Given the description of an element on the screen output the (x, y) to click on. 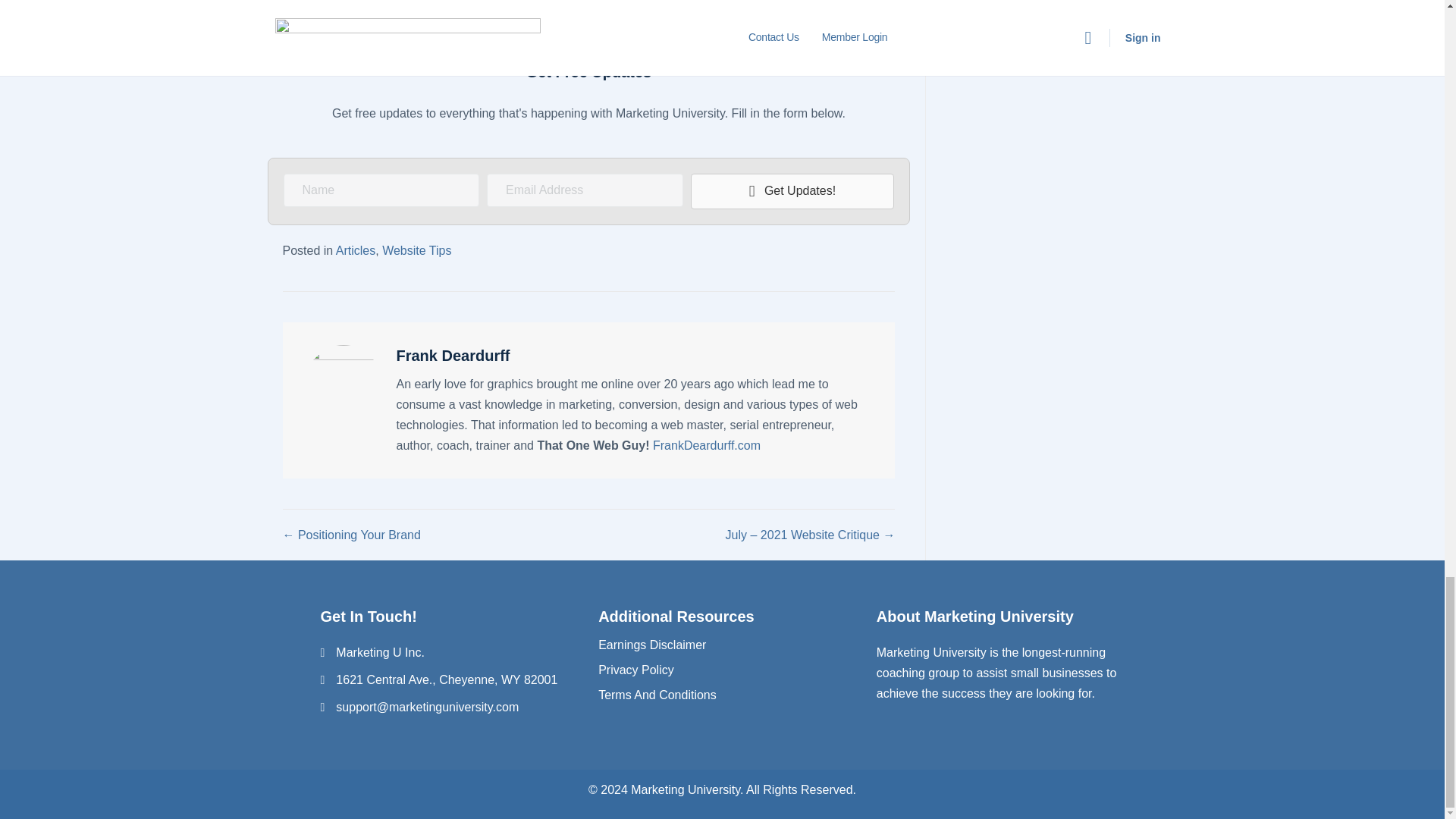
Articles (355, 250)
Privacy Policy (636, 669)
Terms And Conditions (657, 694)
Earnings Disclaimer (652, 644)
Get Updates! (792, 191)
1621 Central Ave., Cheyenne, WY 82001 (446, 679)
Website Tips (416, 250)
Facebook Landscape (588, 24)
Marketing U Inc. (379, 652)
FrankDeardurff.com (706, 445)
